Given the description of an element on the screen output the (x, y) to click on. 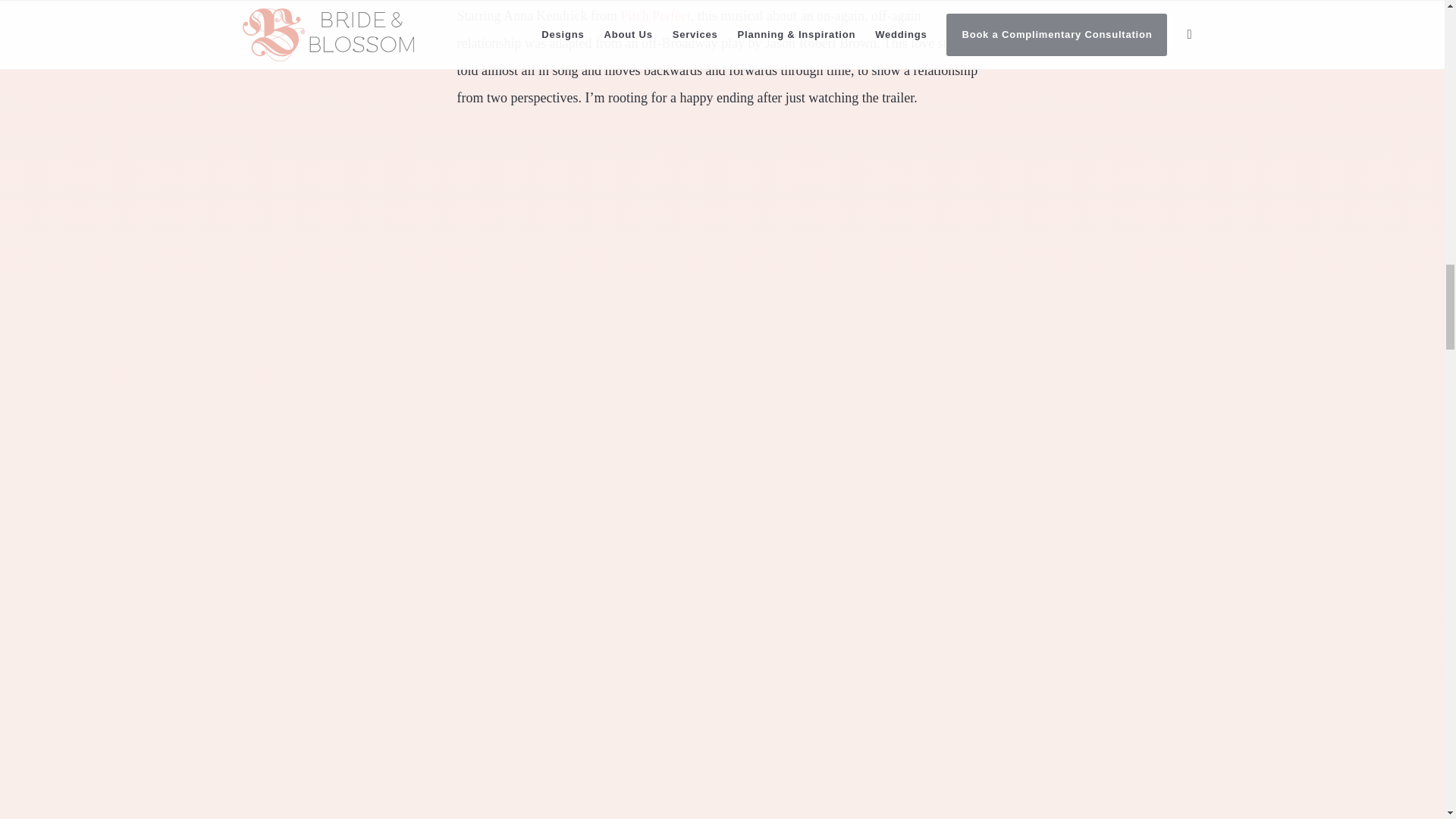
Pitch Perfect (655, 15)
